Given the description of an element on the screen output the (x, y) to click on. 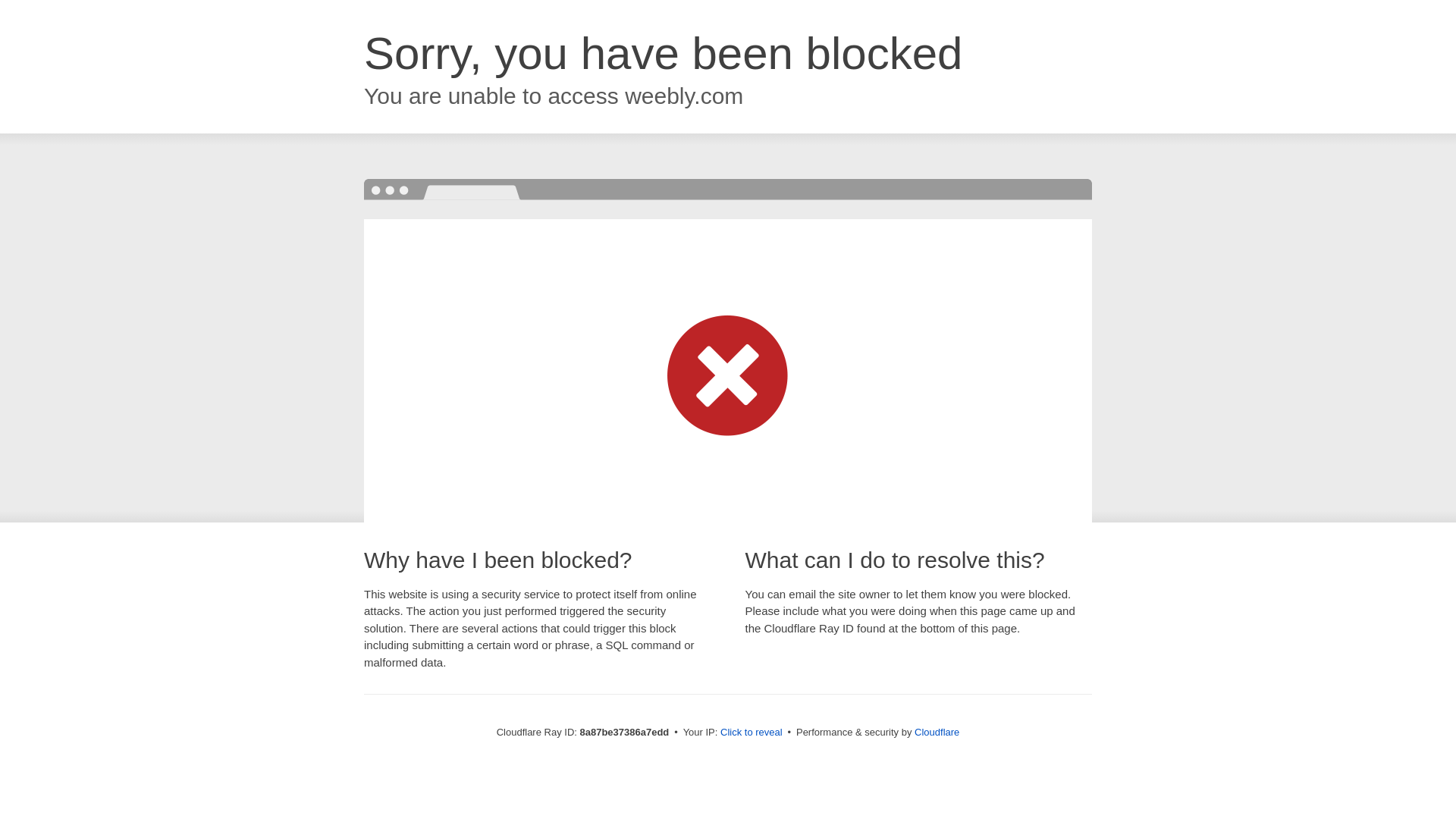
Click to reveal (751, 732)
Cloudflare (936, 731)
